Given the description of an element on the screen output the (x, y) to click on. 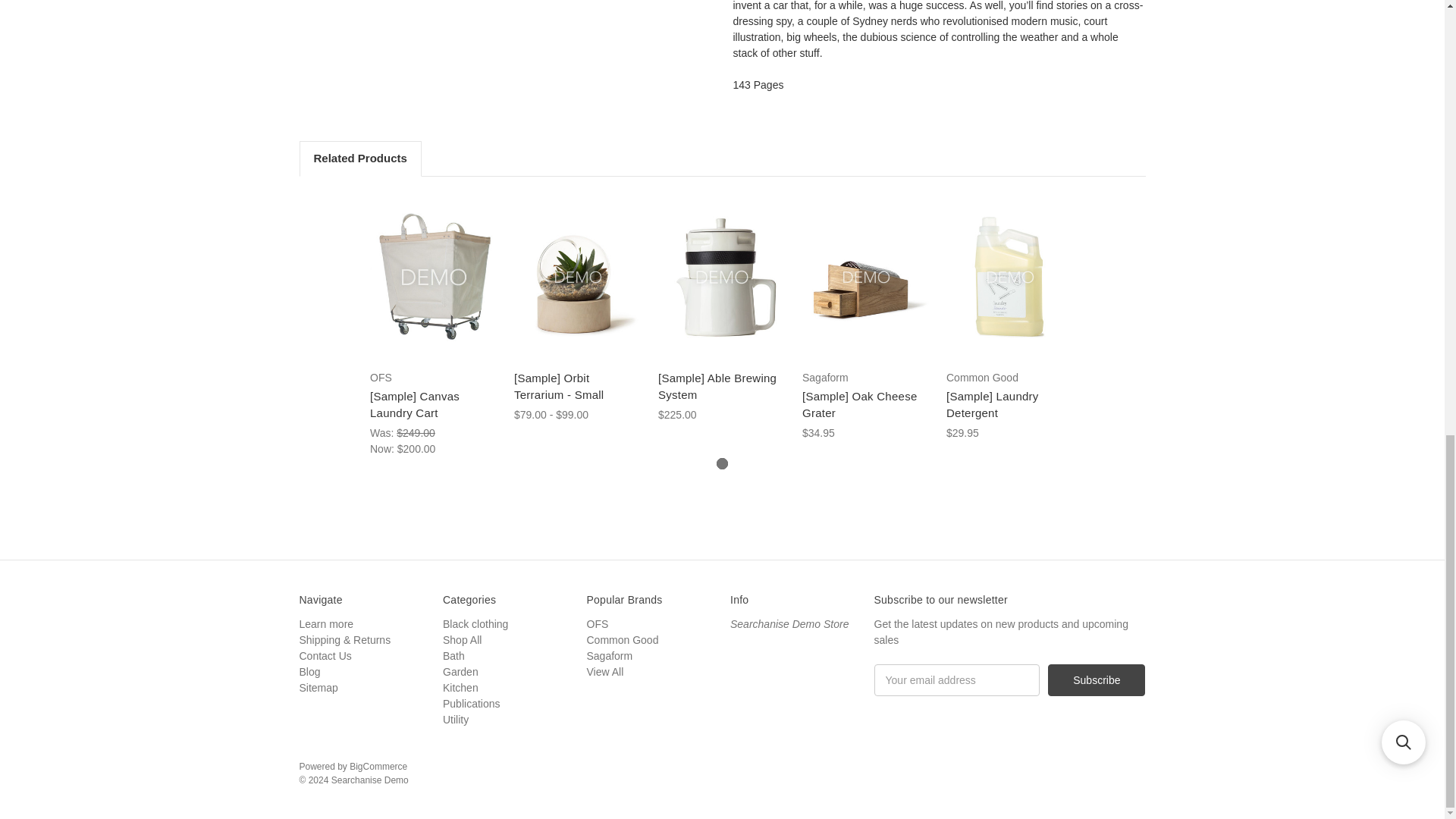
Subscribe (1096, 680)
